Given the description of an element on the screen output the (x, y) to click on. 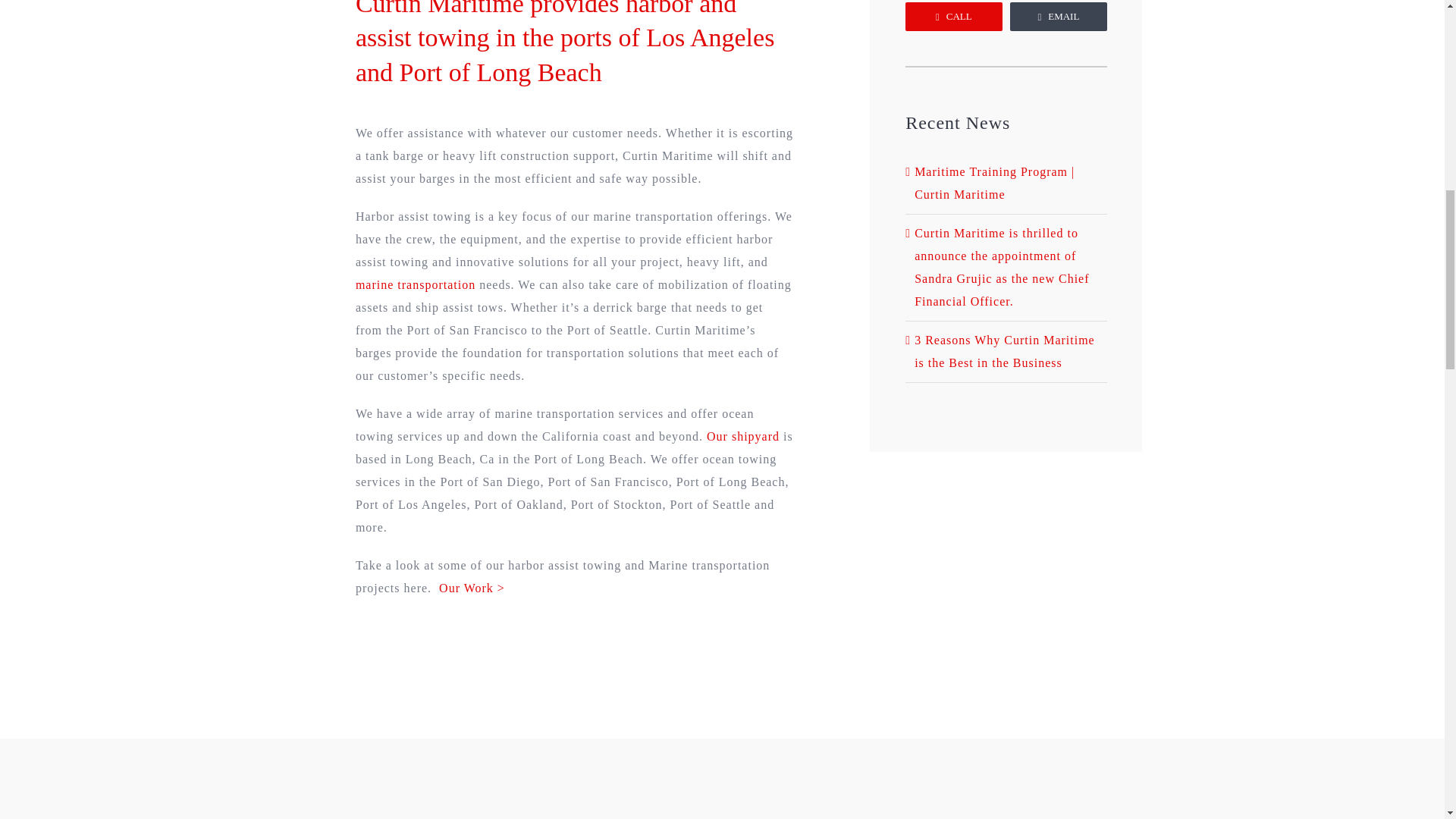
Call (953, 16)
email (1058, 16)
